Given the description of an element on the screen output the (x, y) to click on. 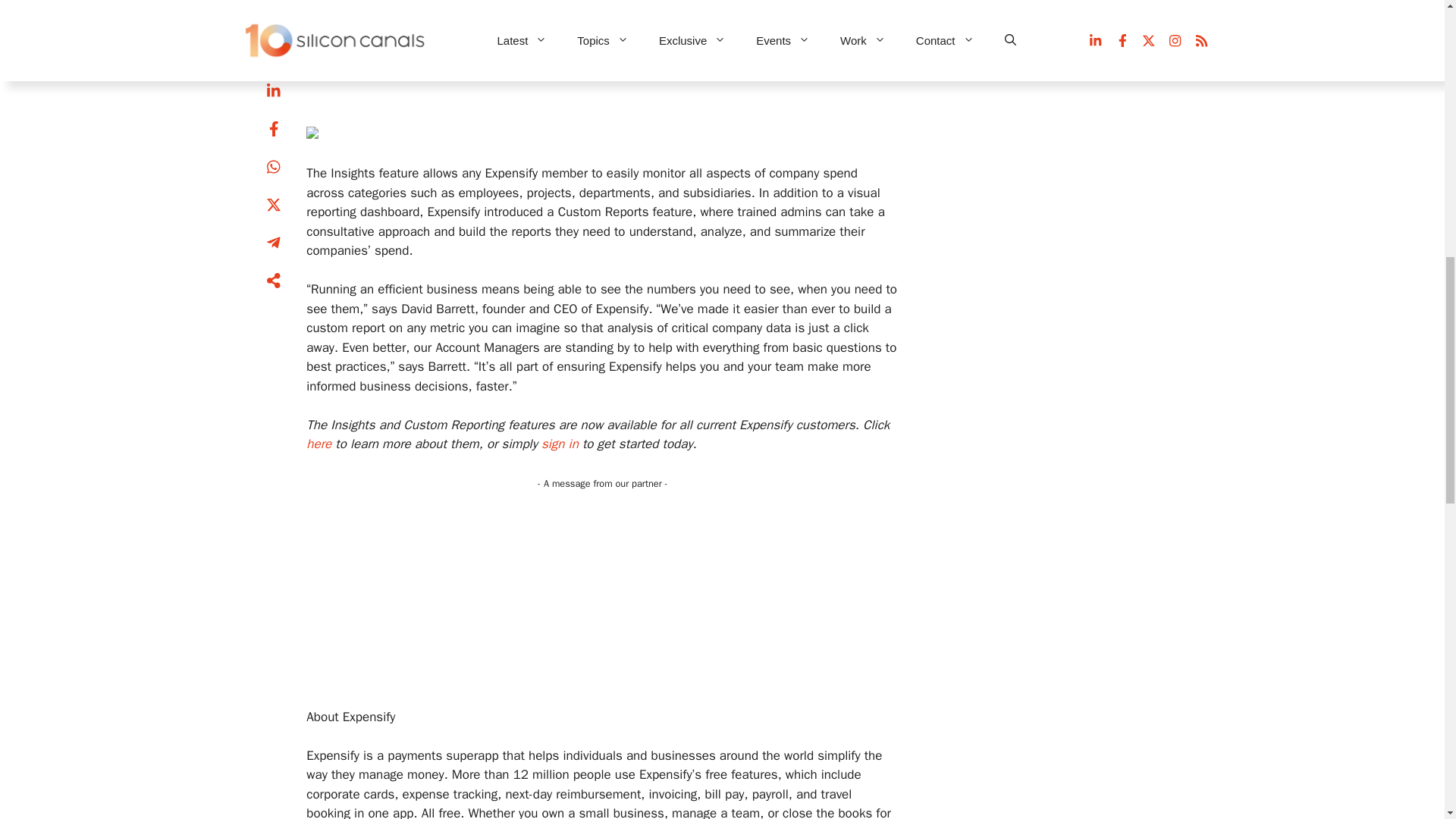
Scroll back to top (1406, 720)
